Given the description of an element on the screen output the (x, y) to click on. 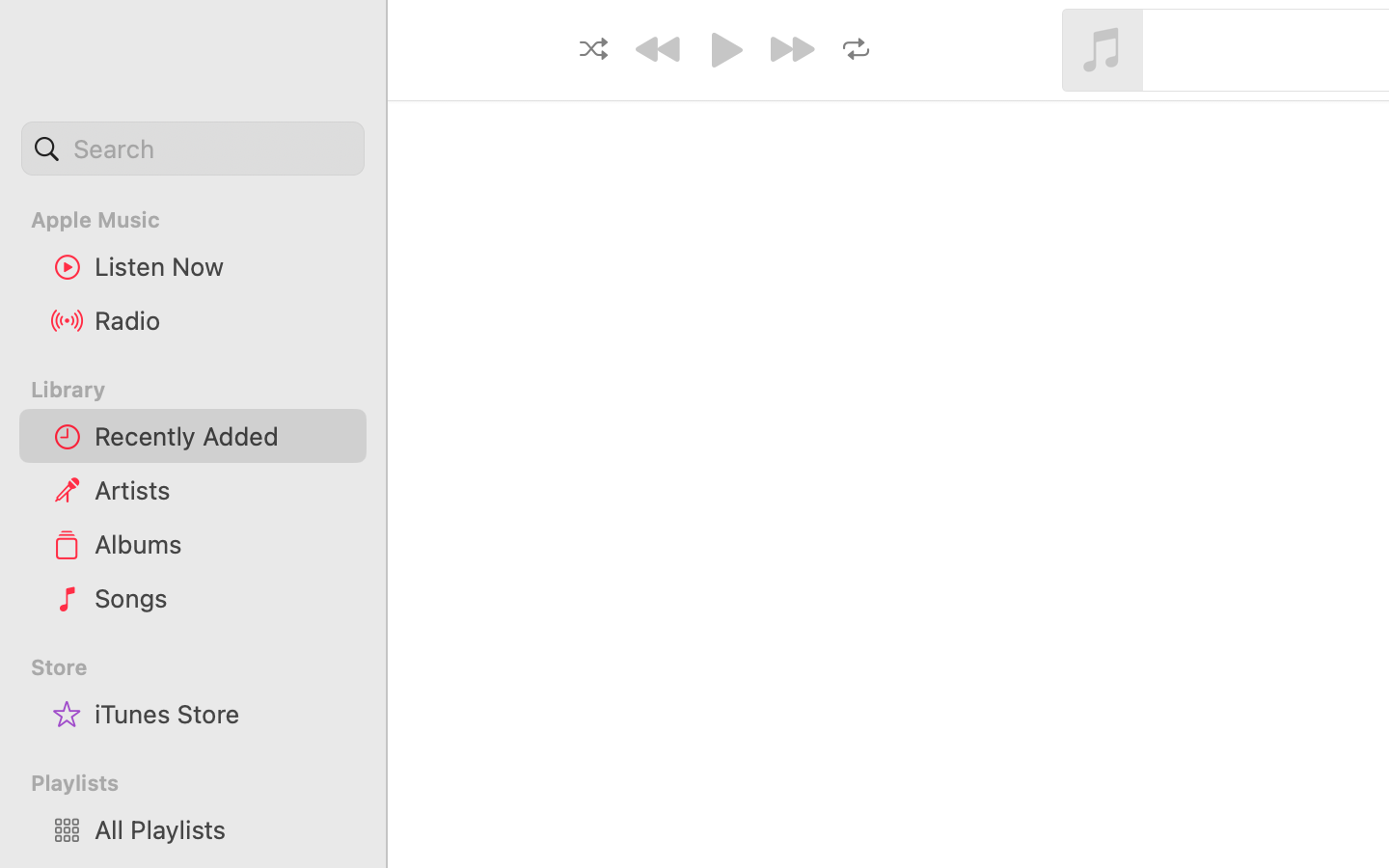
Apple Music Element type: AXStaticText (204, 219)
Albums Element type: AXStaticText (222, 543)
Listen Now Element type: AXStaticText (222, 265)
iTunes Store Element type: AXStaticText (222, 713)
Radio Element type: AXStaticText (222, 319)
